Given the description of an element on the screen output the (x, y) to click on. 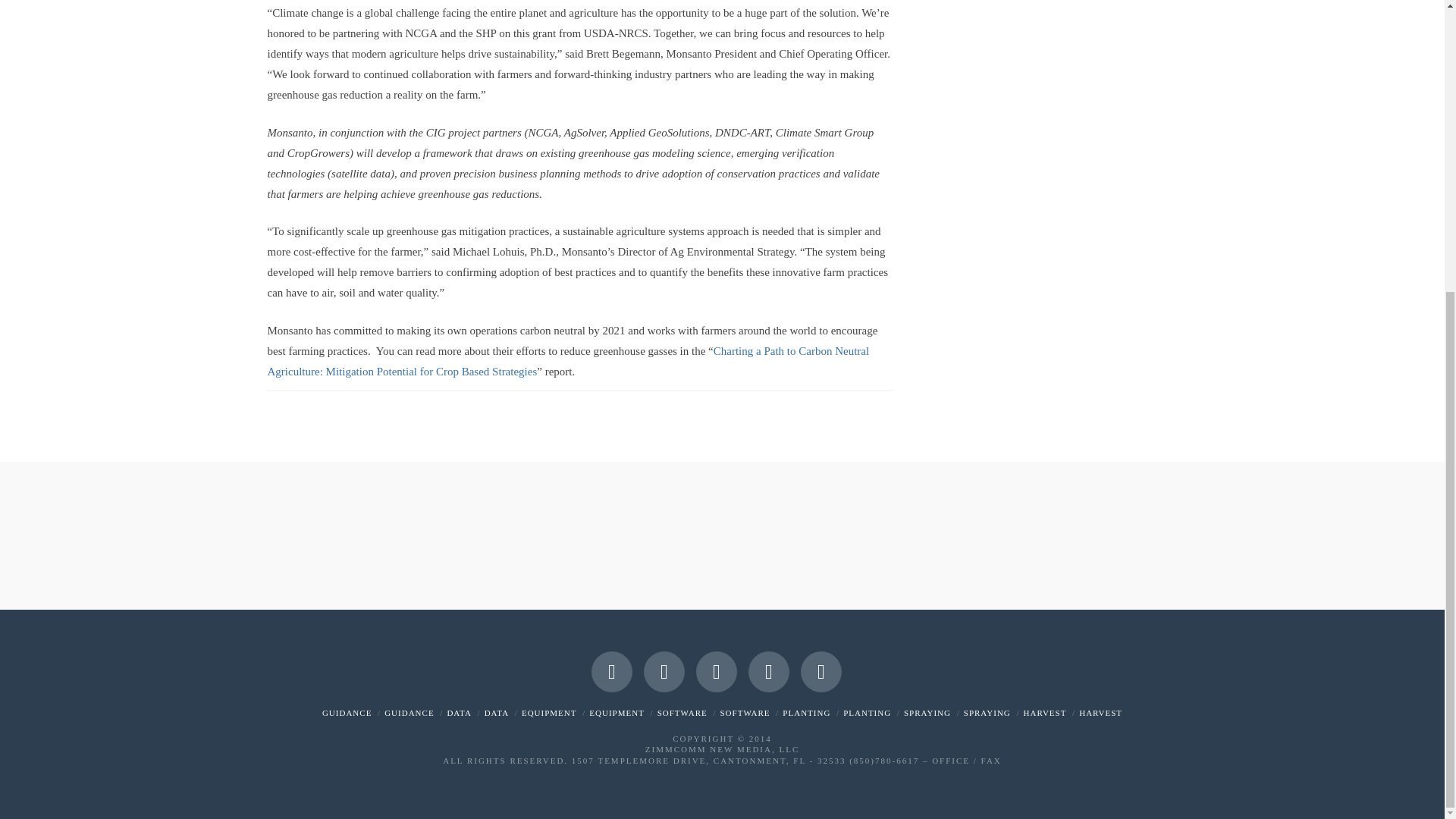
GUIDANCE (346, 712)
Facebook (611, 671)
DATA (458, 712)
Flickr (768, 671)
EQUIPMENT (548, 712)
DATA (496, 712)
GUIDANCE (408, 712)
YouTube (715, 671)
Twitter (663, 671)
